Given the description of an element on the screen output the (x, y) to click on. 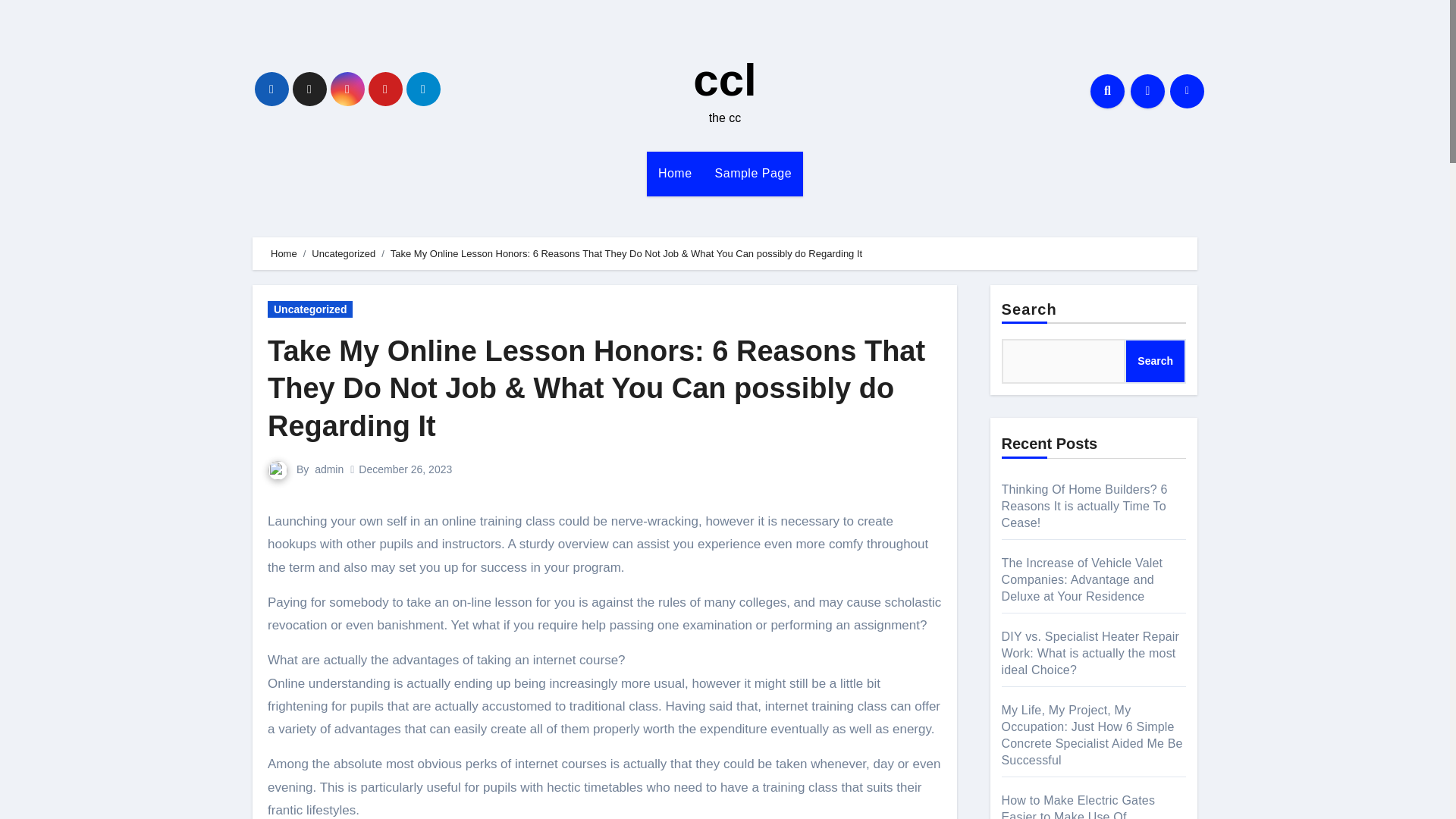
admin (328, 469)
Home (674, 173)
ccl (724, 79)
Uncategorized (309, 309)
December 26, 2023 (404, 469)
Home (283, 253)
Home (674, 173)
Uncategorized (343, 253)
Sample Page (753, 173)
